Given the description of an element on the screen output the (x, y) to click on. 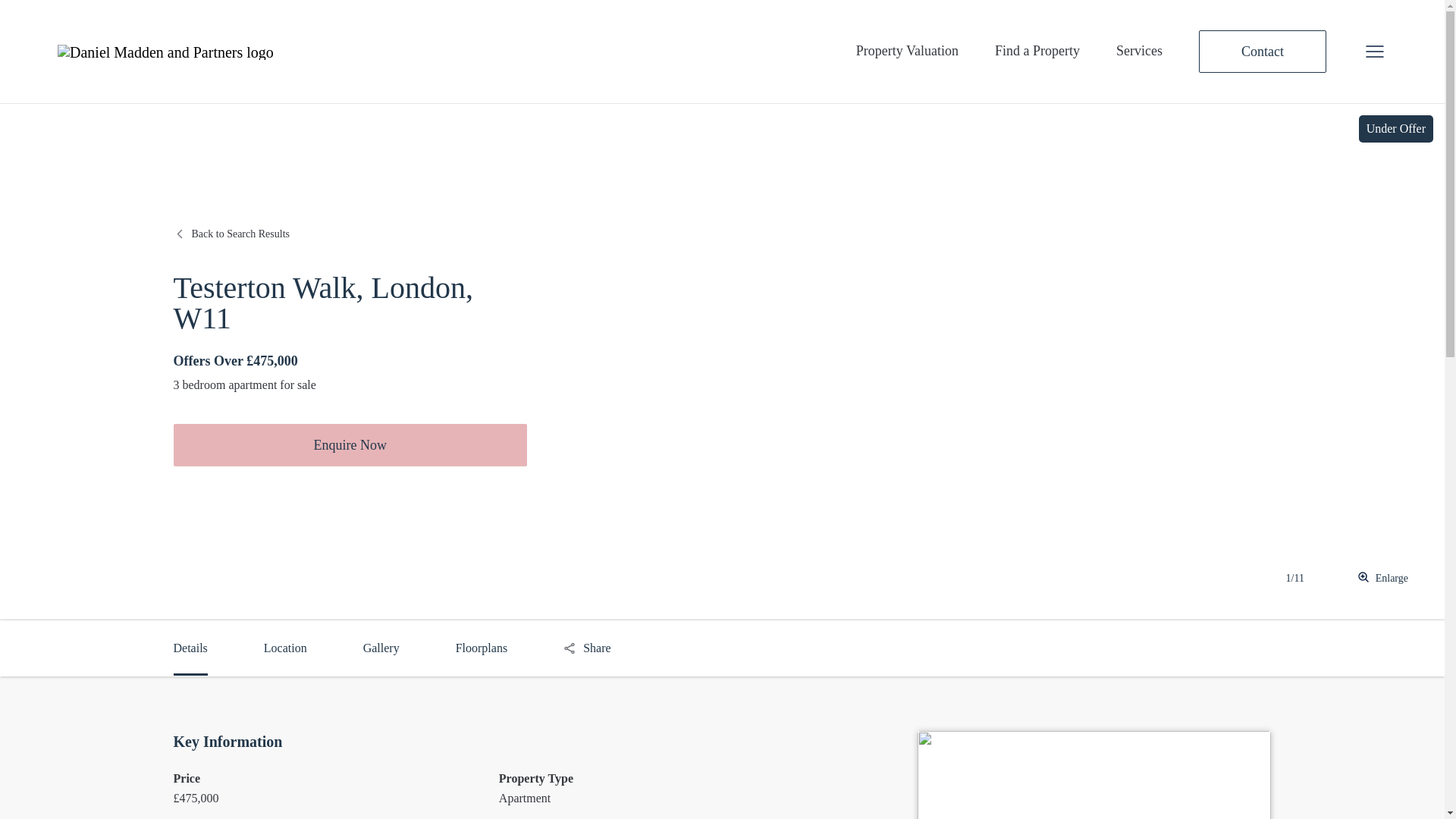
Back to Search Results (230, 234)
Share (586, 647)
Details (189, 658)
Enlarge (1383, 577)
Property Valuation (904, 51)
Contact (1262, 51)
Services (1135, 51)
Gallery (380, 648)
Floorplans (480, 648)
Find a Property (1034, 51)
